Given the description of an element on the screen output the (x, y) to click on. 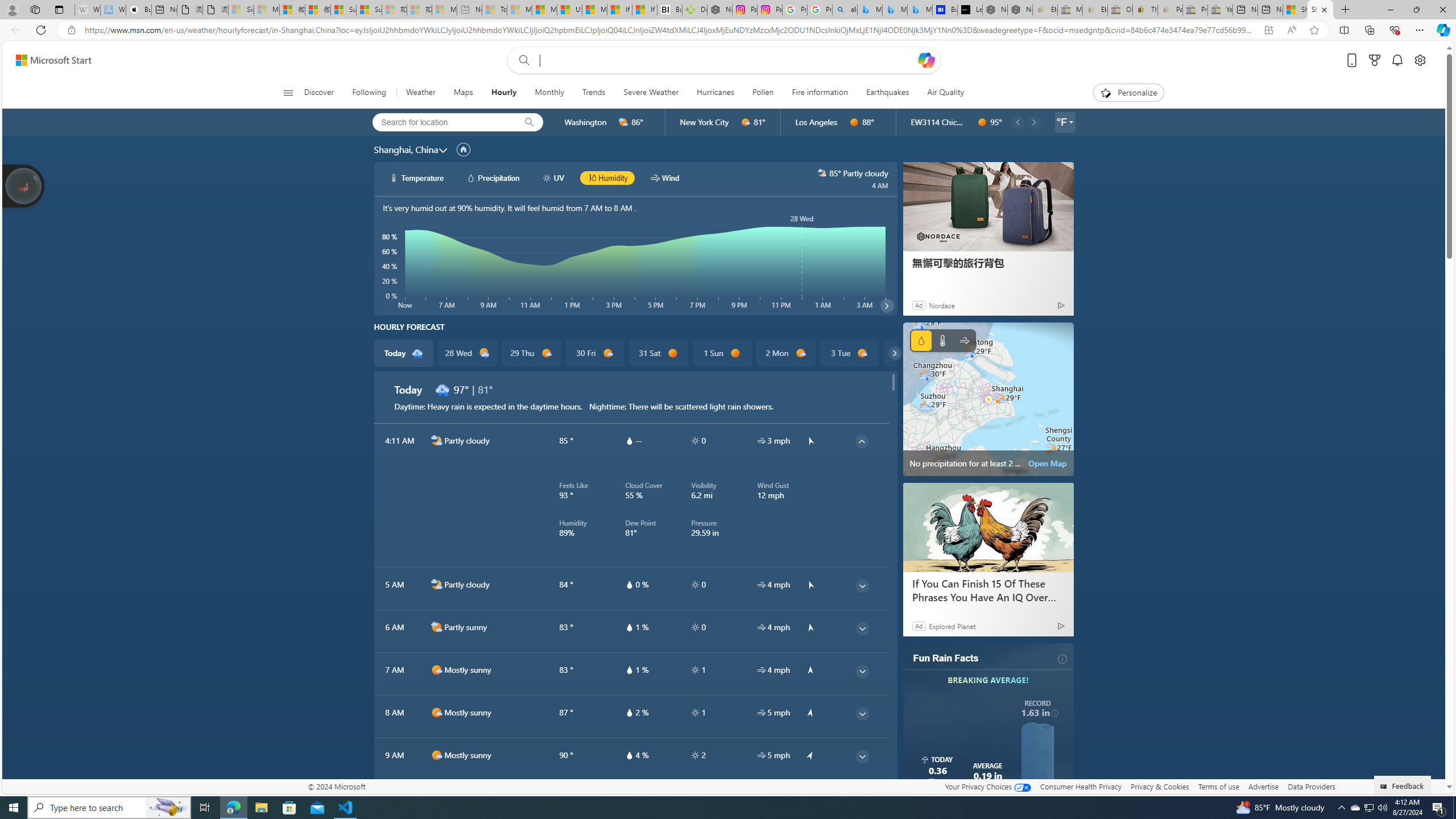
hourlyChart/humidityBlack Humidity (606, 178)
30 Fri d1000 (594, 352)
Search for location (440, 122)
Air Quality (945, 92)
Data Providers (1311, 785)
4 Wed d1000 (913, 352)
Nordace - Nordace Edin Collection (718, 9)
Microsoft Bing Travel - Flights from Hong Kong to Bangkok (869, 9)
hourlyChart/precipitationWhite Precipitation (493, 178)
hourlyChart/uvWhite (546, 177)
